Given the description of an element on the screen output the (x, y) to click on. 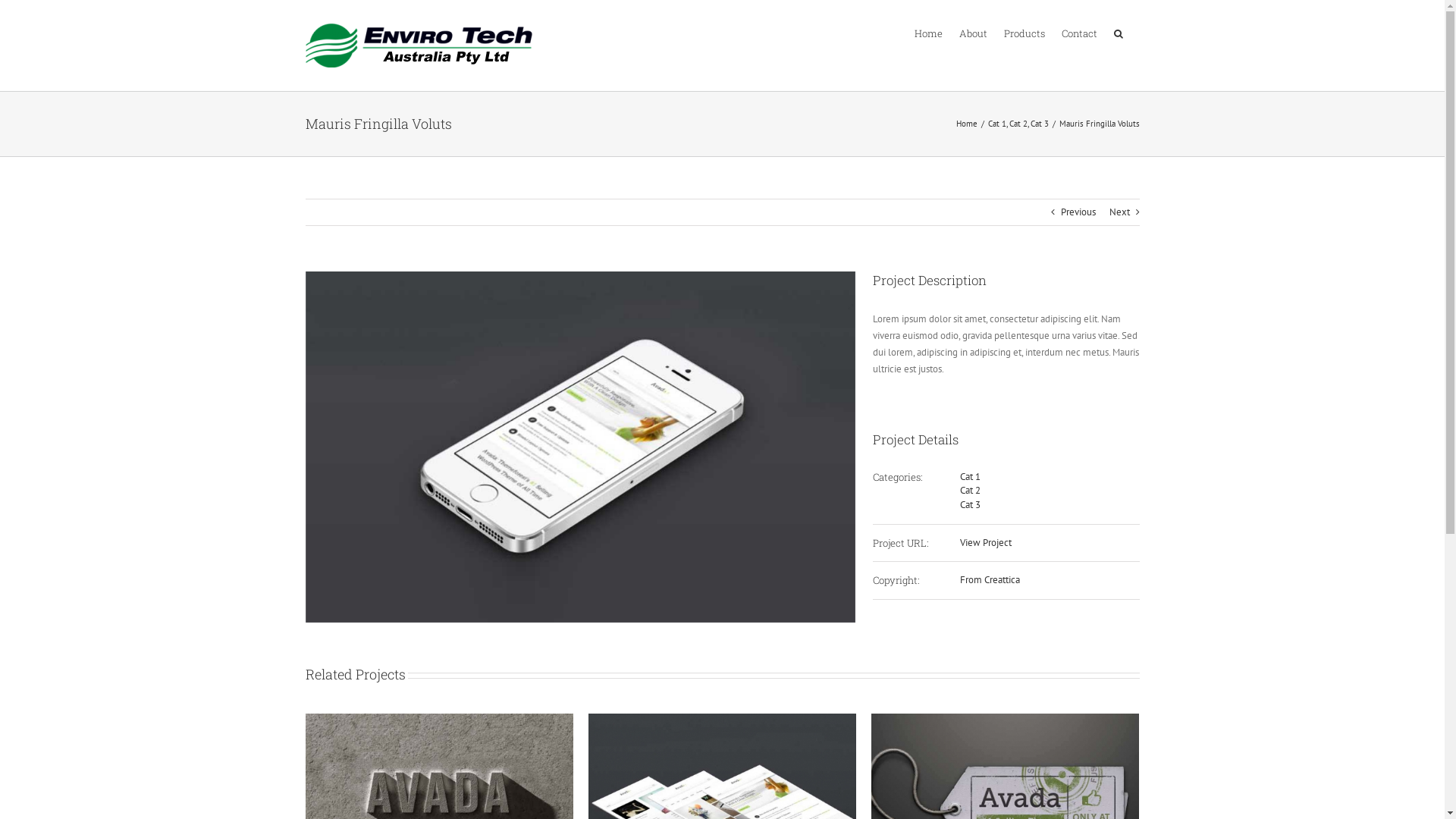
Cat 1 Element type: text (970, 476)
View Larger Image Element type: text (579, 446)
About Element type: text (972, 32)
Products Element type: text (1024, 32)
Cat 1 Element type: text (996, 123)
Cat 2 Element type: text (1017, 123)
Contact Element type: text (1079, 32)
Home Element type: text (928, 32)
From Creattica Element type: text (989, 579)
Next Element type: text (1118, 212)
Cat 2 Element type: text (970, 489)
Cat 3 Element type: text (970, 504)
Previous Element type: text (1077, 212)
Cat 3 Element type: text (1038, 123)
View Project Element type: text (985, 542)
Search Element type: hover (1117, 32)
Home Element type: text (965, 123)
